Given the description of an element on the screen output the (x, y) to click on. 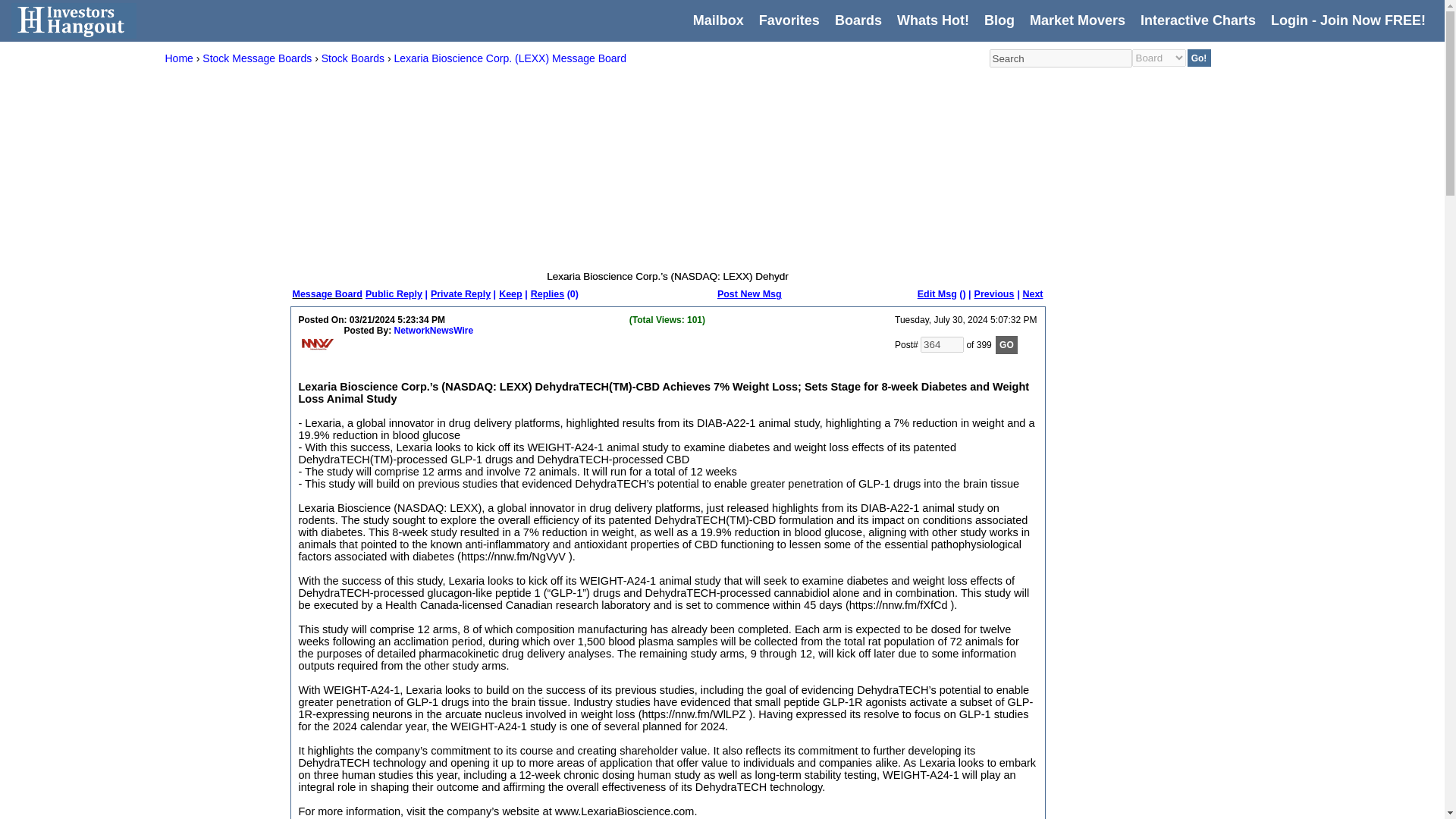
Mailbox (718, 20)
Go! (1199, 57)
Login - Join Now FREE! (1348, 20)
Interactive Charts (1197, 20)
Favorites (788, 20)
Home (179, 58)
Stock Boards (352, 58)
GO (1006, 344)
364 (941, 344)
Go! (1199, 57)
Post New Msg (749, 294)
Search (1059, 58)
Message Board (327, 294)
Stock Message Boards (256, 58)
Market Movers (1077, 20)
